Given the description of an element on the screen output the (x, y) to click on. 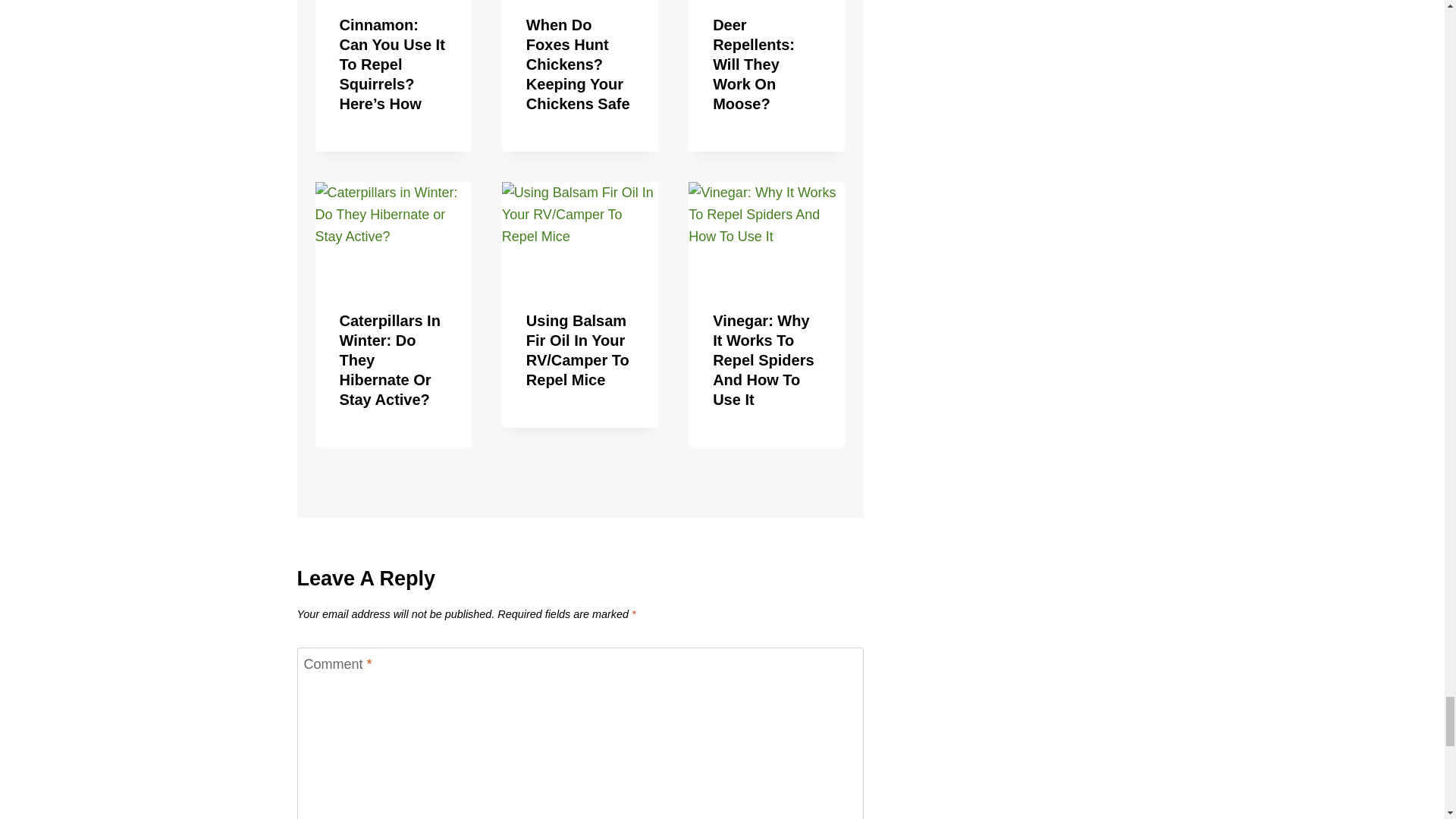
When Do Foxes Hunt Chickens? Keeping Your Chickens Safe (577, 64)
